Given the description of an element on the screen output the (x, y) to click on. 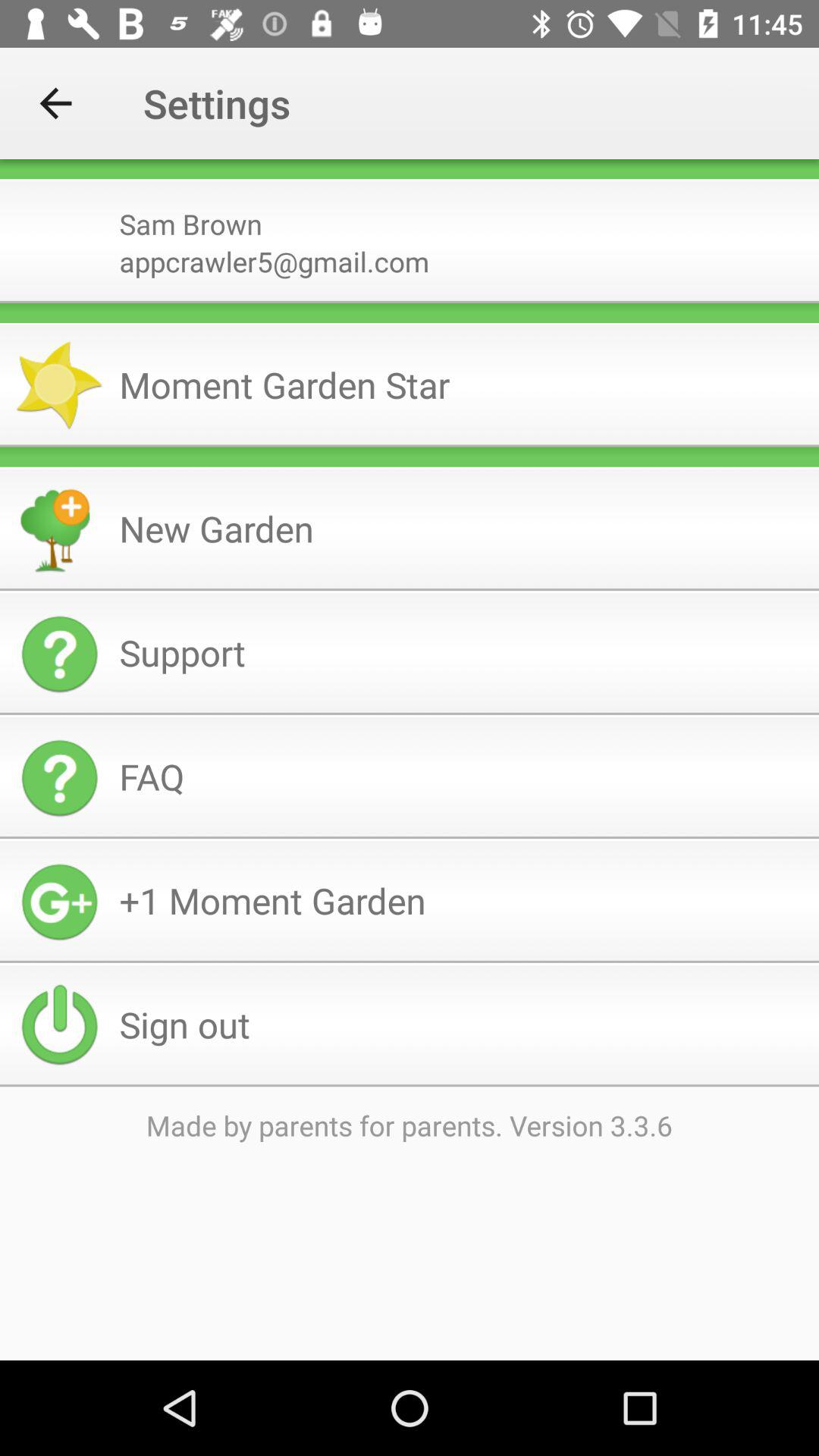
press faq item (463, 776)
